Given the description of an element on the screen output the (x, y) to click on. 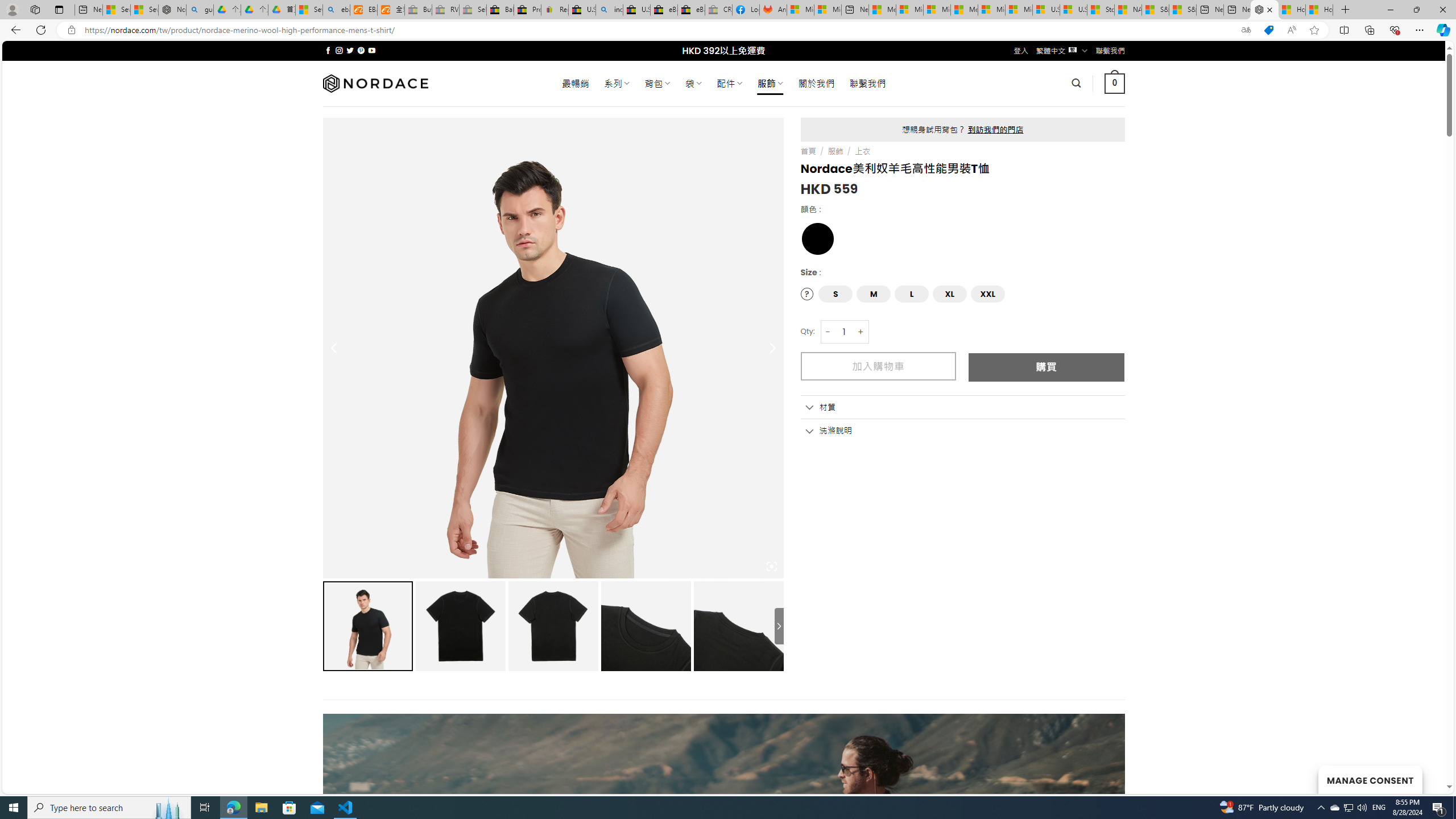
U.S. State Privacy Disclosures - eBay Inc. (636, 9)
Follow on YouTube (371, 50)
Log into Facebook (746, 9)
Follow on Pinterest (360, 50)
